Given the description of an element on the screen output the (x, y) to click on. 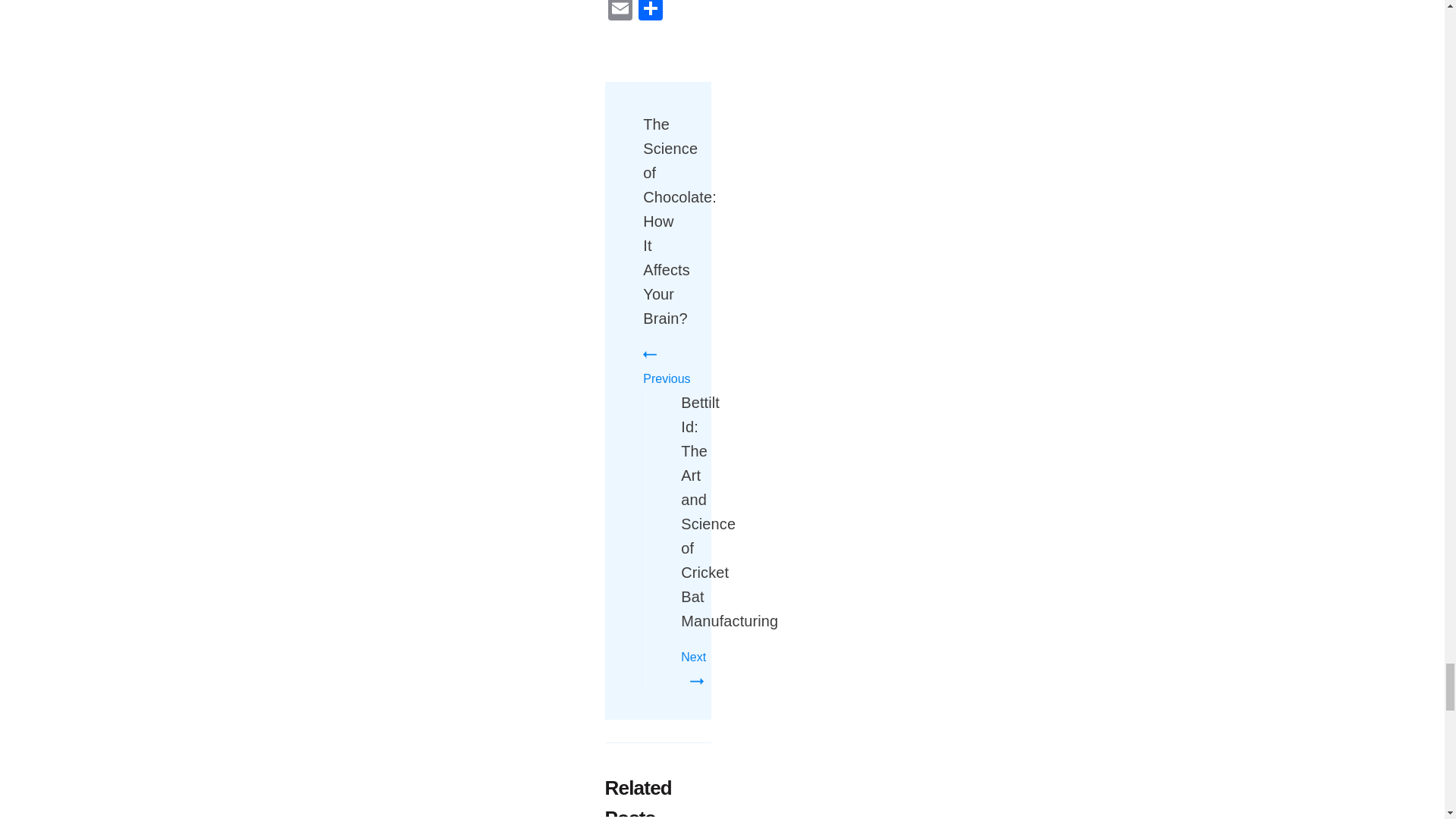
Email (619, 12)
